Given the description of an element on the screen output the (x, y) to click on. 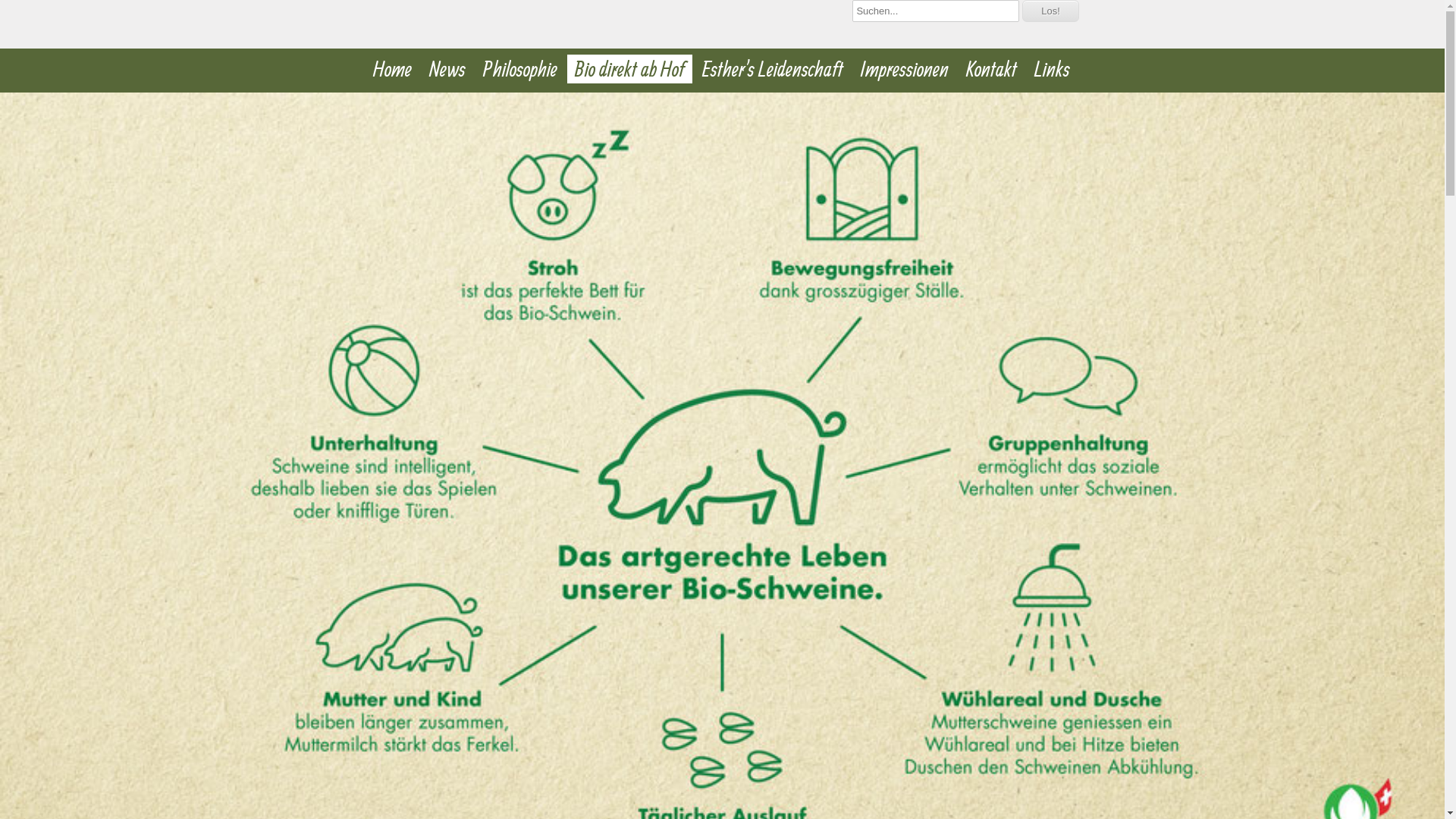
Home Element type: text (392, 68)
News Element type: text (447, 68)
Esther's Leidenschaft Element type: text (772, 68)
Links Element type: text (1051, 68)
Bio direkt ab Hof Element type: text (629, 68)
Los! Element type: text (1050, 10)
Kontakt Element type: text (991, 68)
Impressionen Element type: text (903, 68)
Philosophie Element type: text (519, 68)
